Given the description of an element on the screen output the (x, y) to click on. 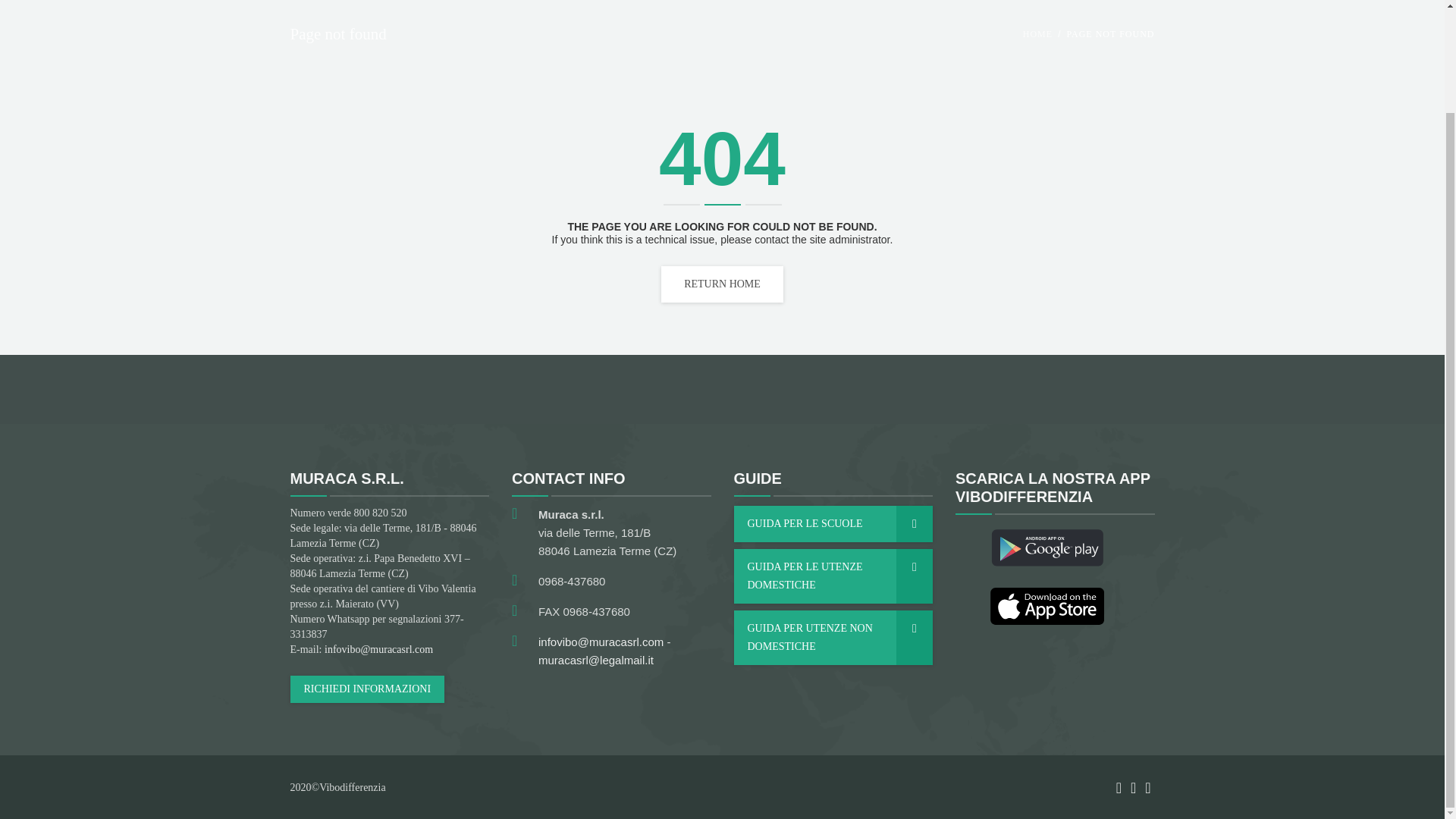
GUIDA PER LE UTENZE DOMESTICHE (833, 575)
RETURN HOME (722, 284)
GUIDA PER LE SCUOLE (833, 524)
RICHIEDI INFORMAZIONI (366, 688)
GUIDA PER UTENZE NON DOMESTICHE (833, 637)
